Given the description of an element on the screen output the (x, y) to click on. 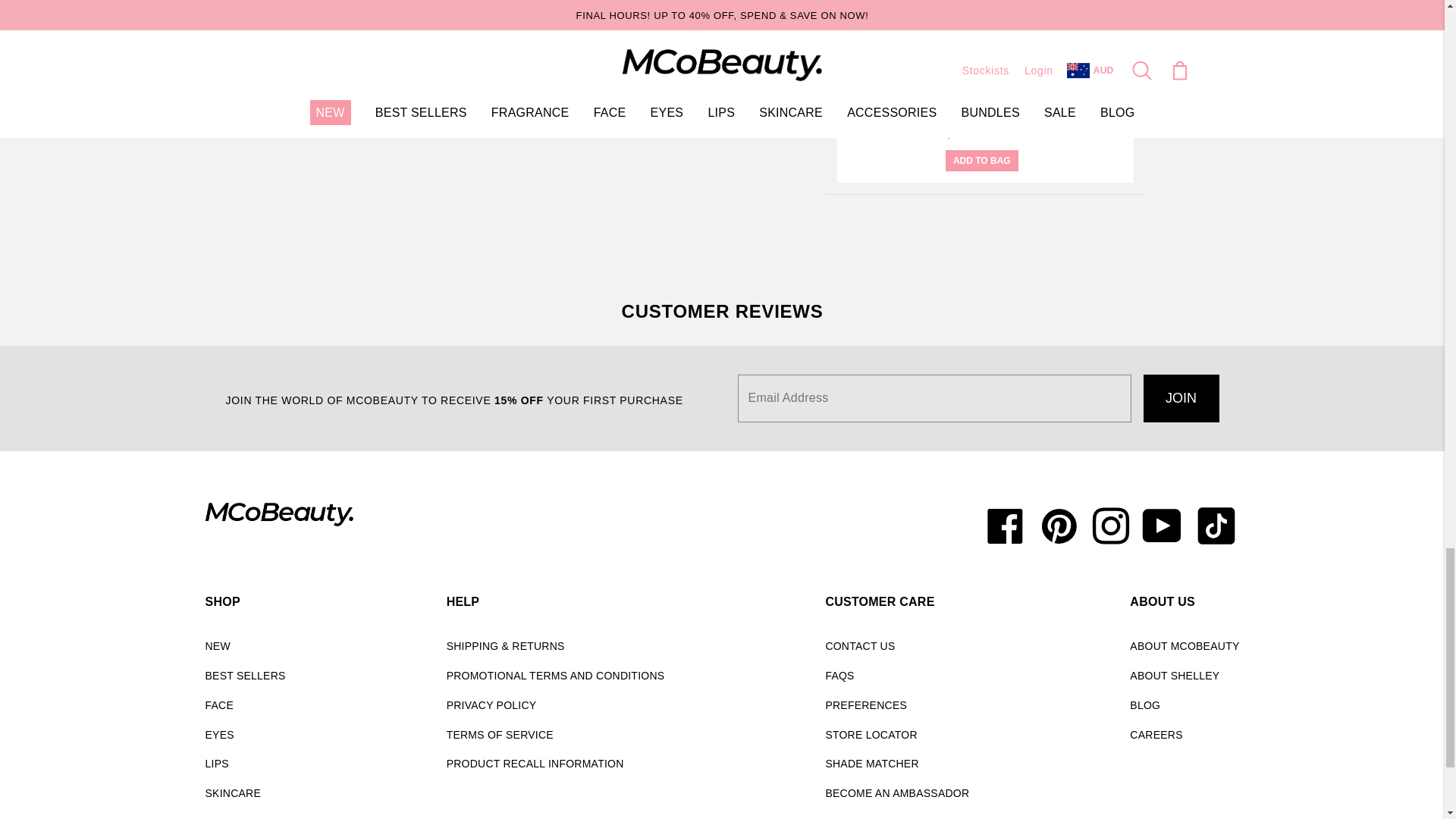
MCoBeauty on Pinterest (1058, 525)
MCoBeauty on Facebook (1006, 525)
MCoBeauty on TikTok (1213, 525)
MCoBeauty on Instagram (1109, 525)
MCoBeauty on YouTube (1161, 525)
